Given the description of an element on the screen output the (x, y) to click on. 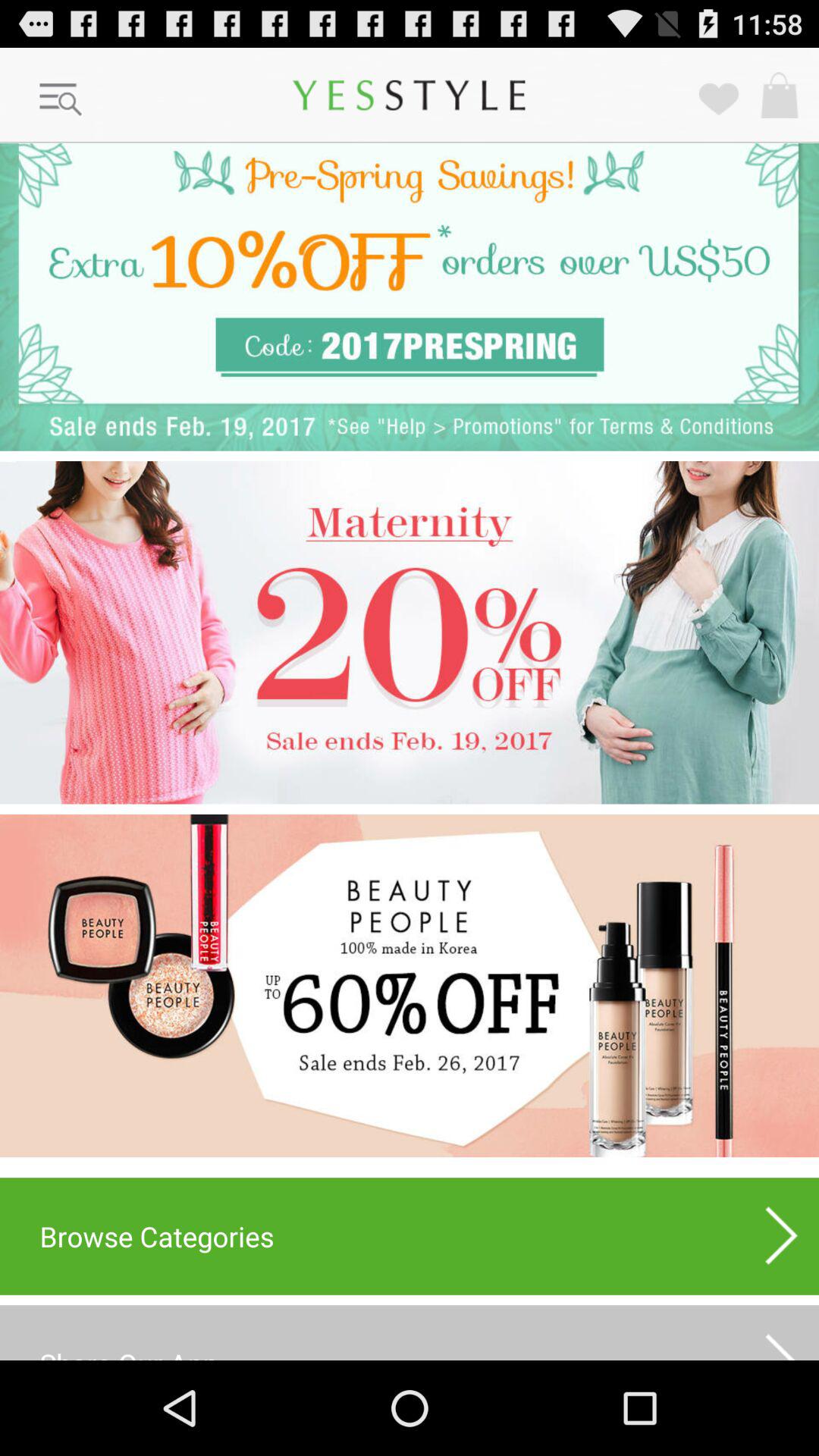
open the icon above share our app app (409, 1236)
